Given the description of an element on the screen output the (x, y) to click on. 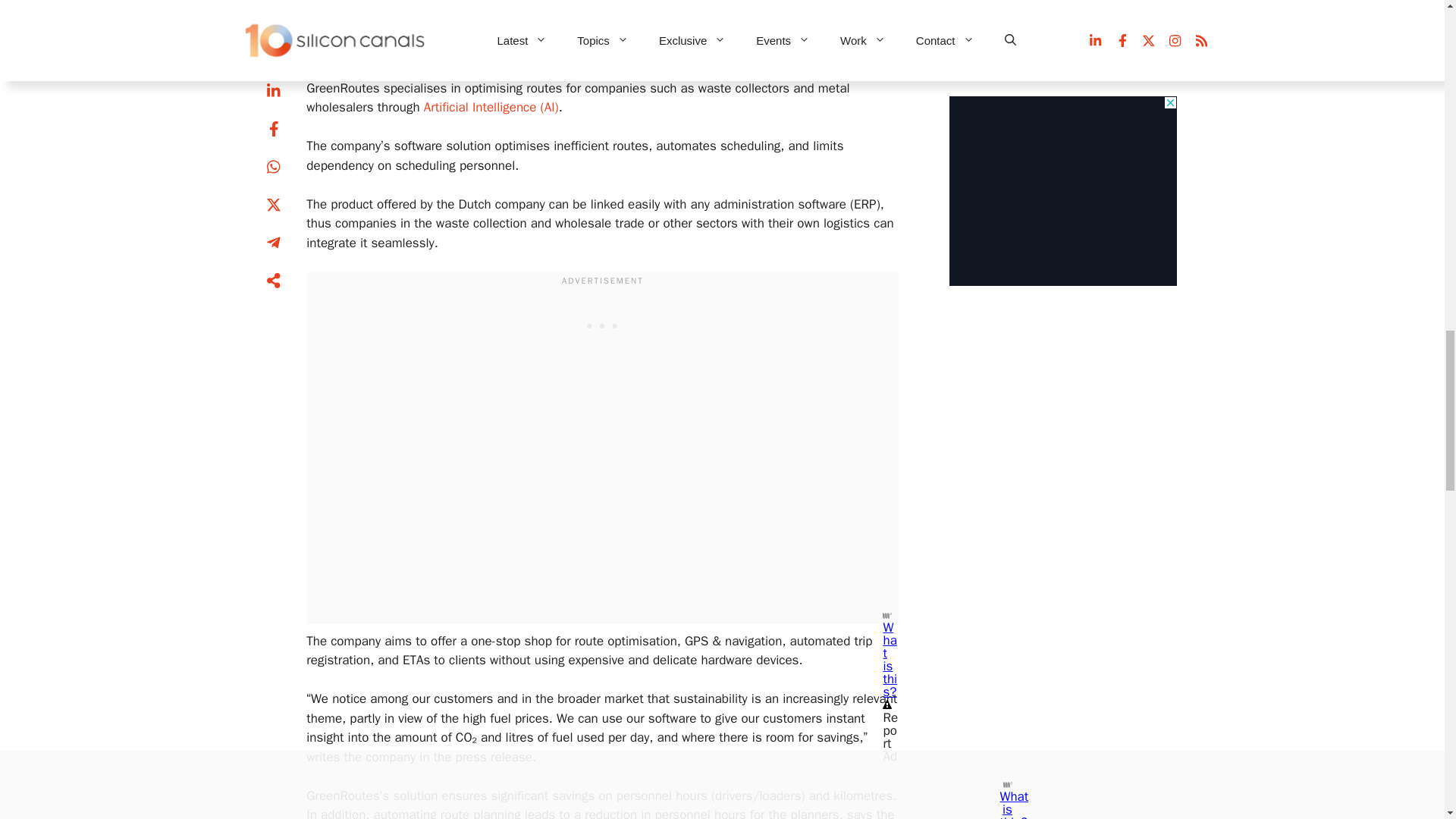
3rd party ad content (602, 324)
